Given the description of an element on the screen output the (x, y) to click on. 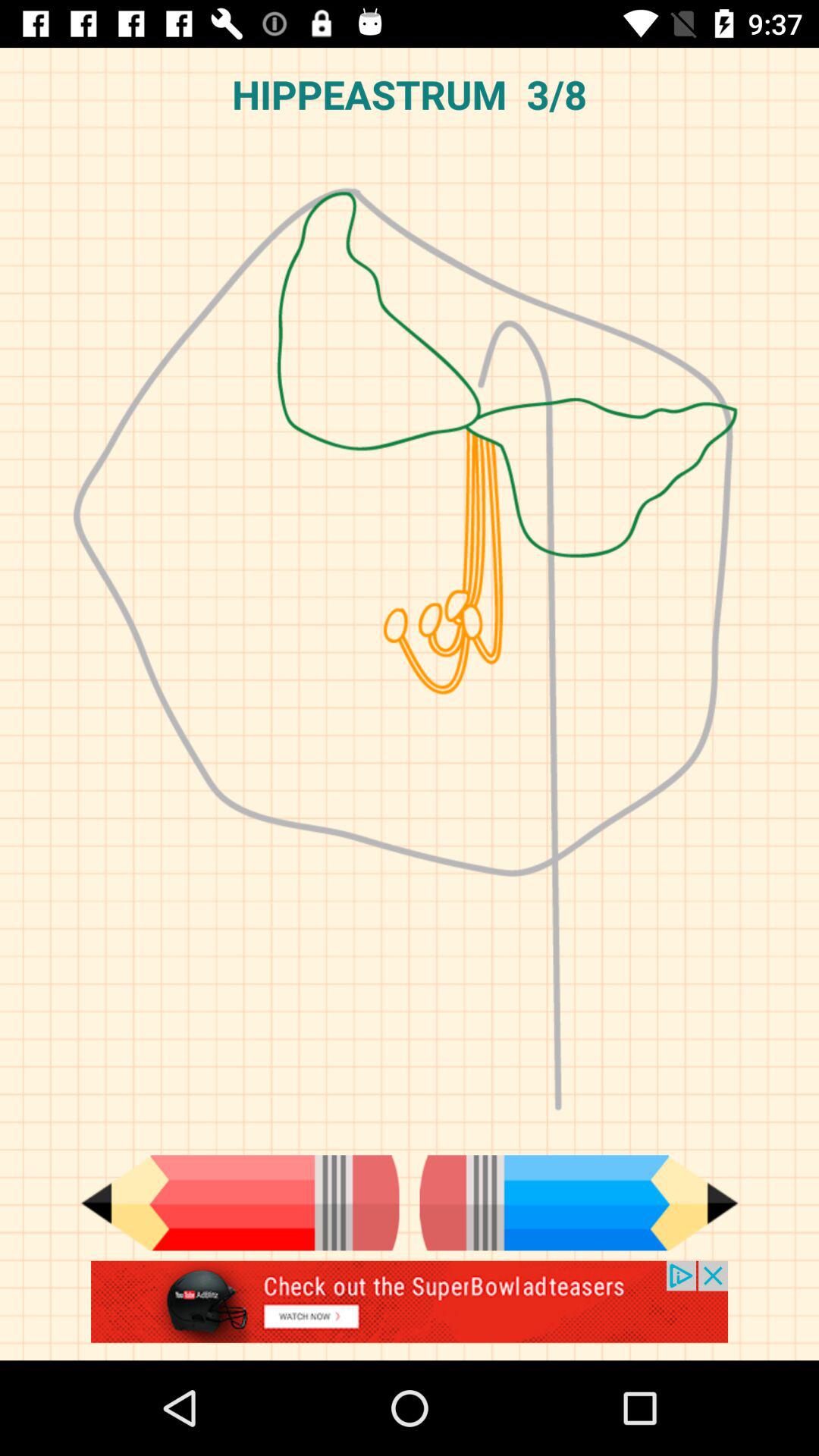
go to next (578, 1202)
